Given the description of an element on the screen output the (x, y) to click on. 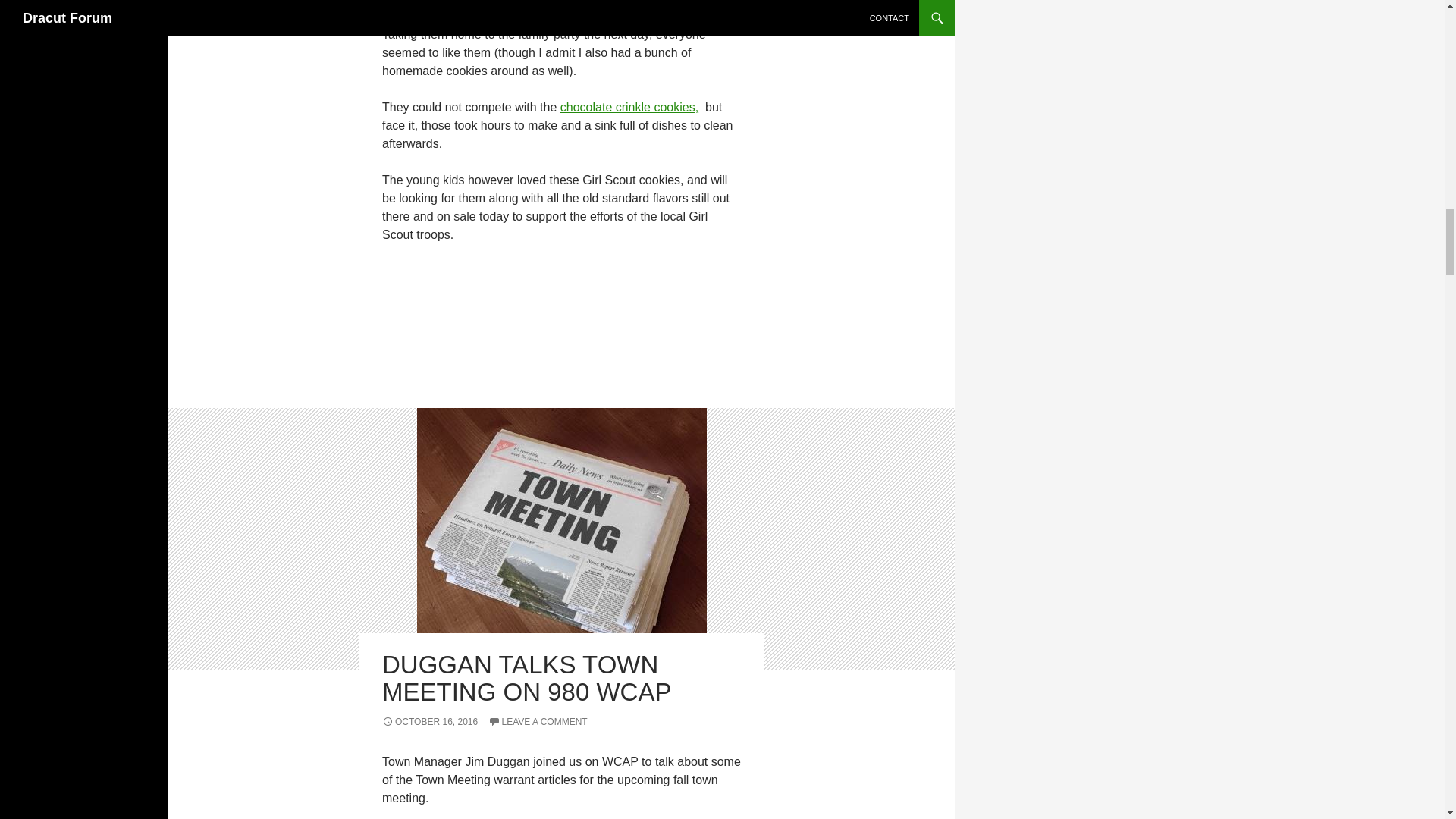
LEAVE A COMMENT (537, 721)
chocolate crinkle cookies, (629, 106)
OCTOBER 16, 2016 (429, 721)
DUGGAN TALKS TOWN MEETING ON 980 WCAP (526, 677)
